Given the description of an element on the screen output the (x, y) to click on. 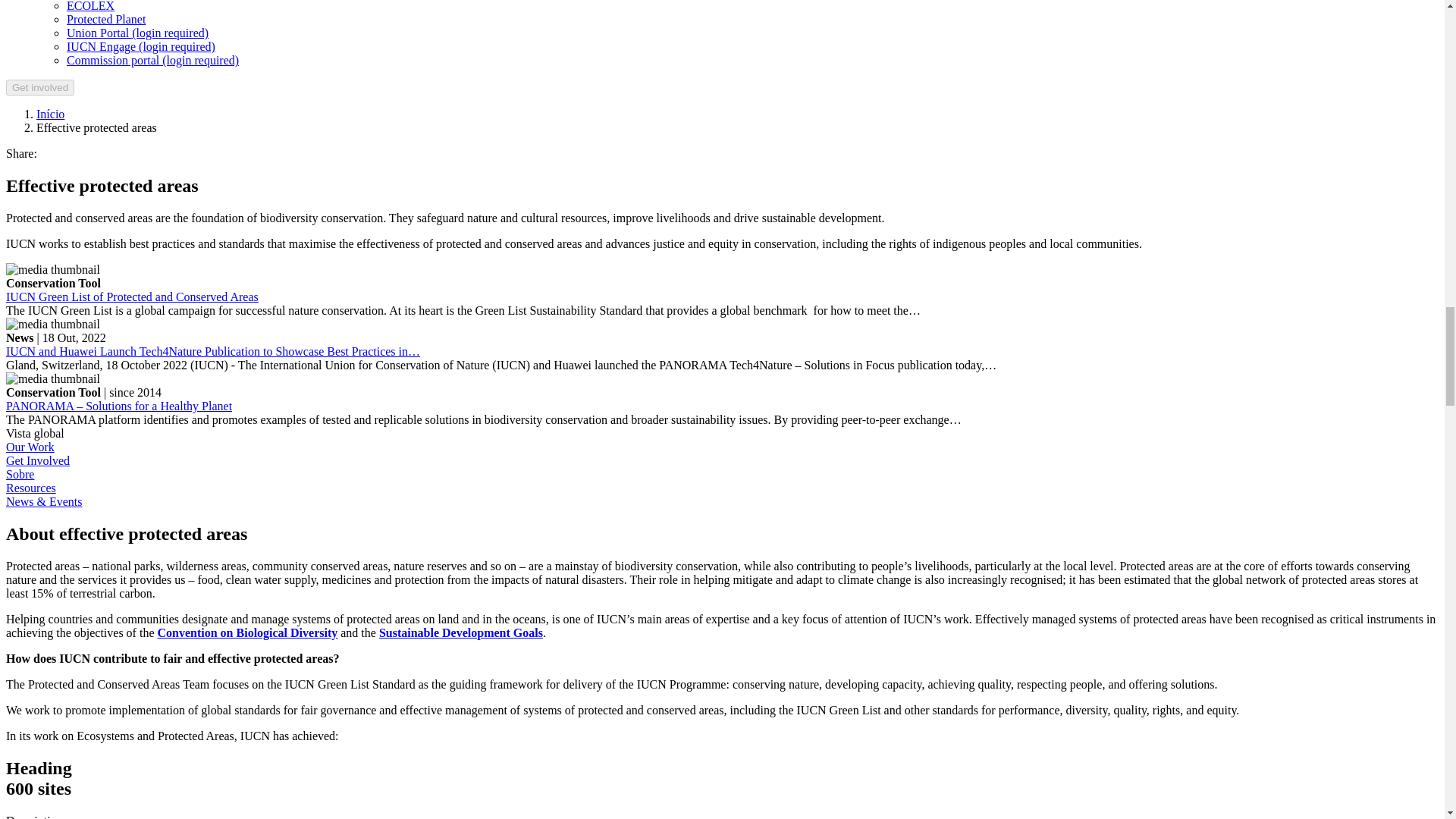
IUCN Union Portal (140, 46)
